Given the description of an element on the screen output the (x, y) to click on. 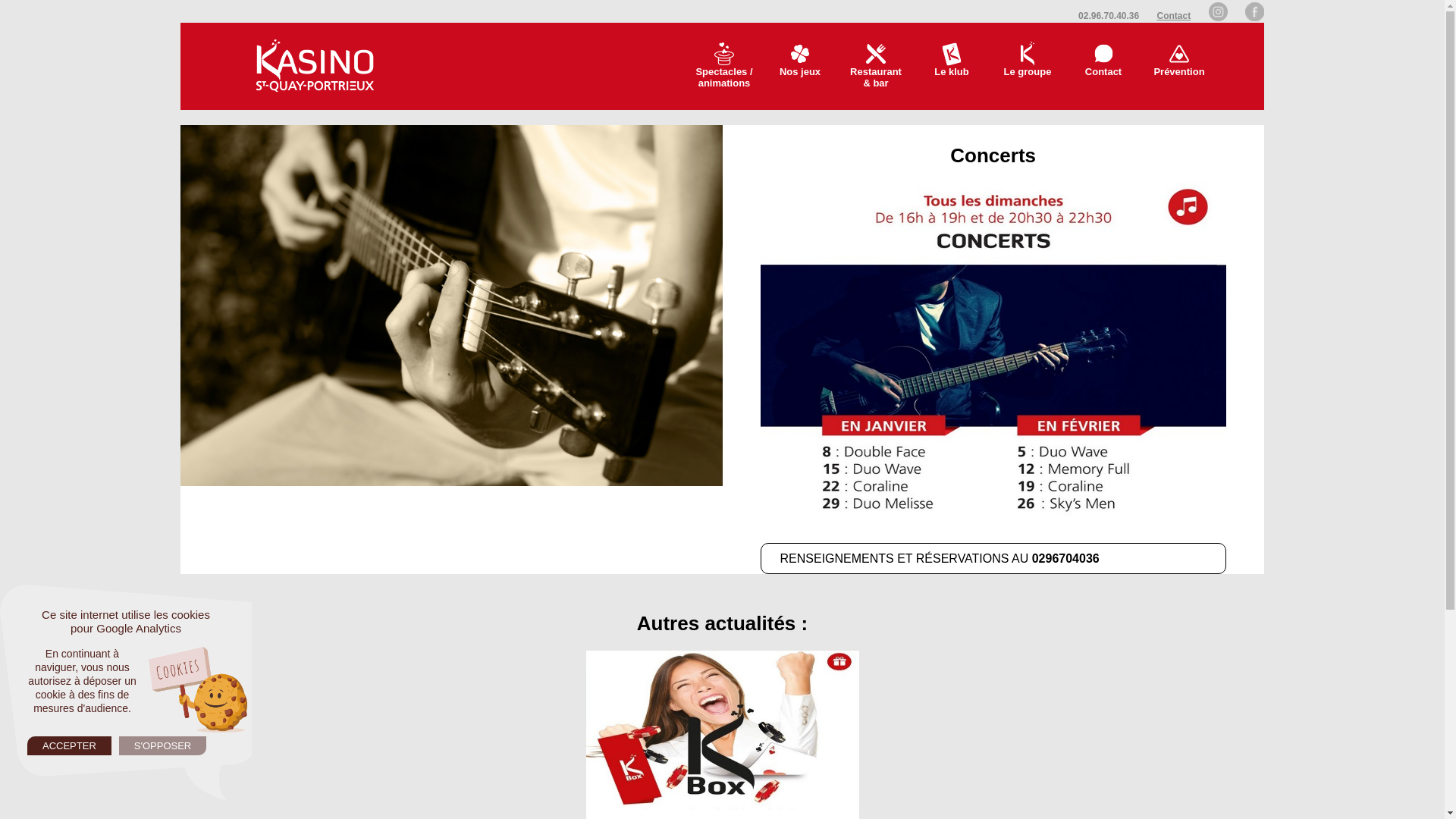
ACCEPTER Element type: text (69, 745)
Spectacles / animations Element type: text (724, 65)
Contact Element type: text (1174, 15)
Le groupe Element type: text (1027, 65)
Contact Element type: text (1103, 65)
Restaurant & bar Element type: text (875, 65)
S'OPPOSER Element type: text (162, 745)
Le klub Element type: text (951, 65)
Nos jeux Element type: text (799, 65)
